Given the description of an element on the screen output the (x, y) to click on. 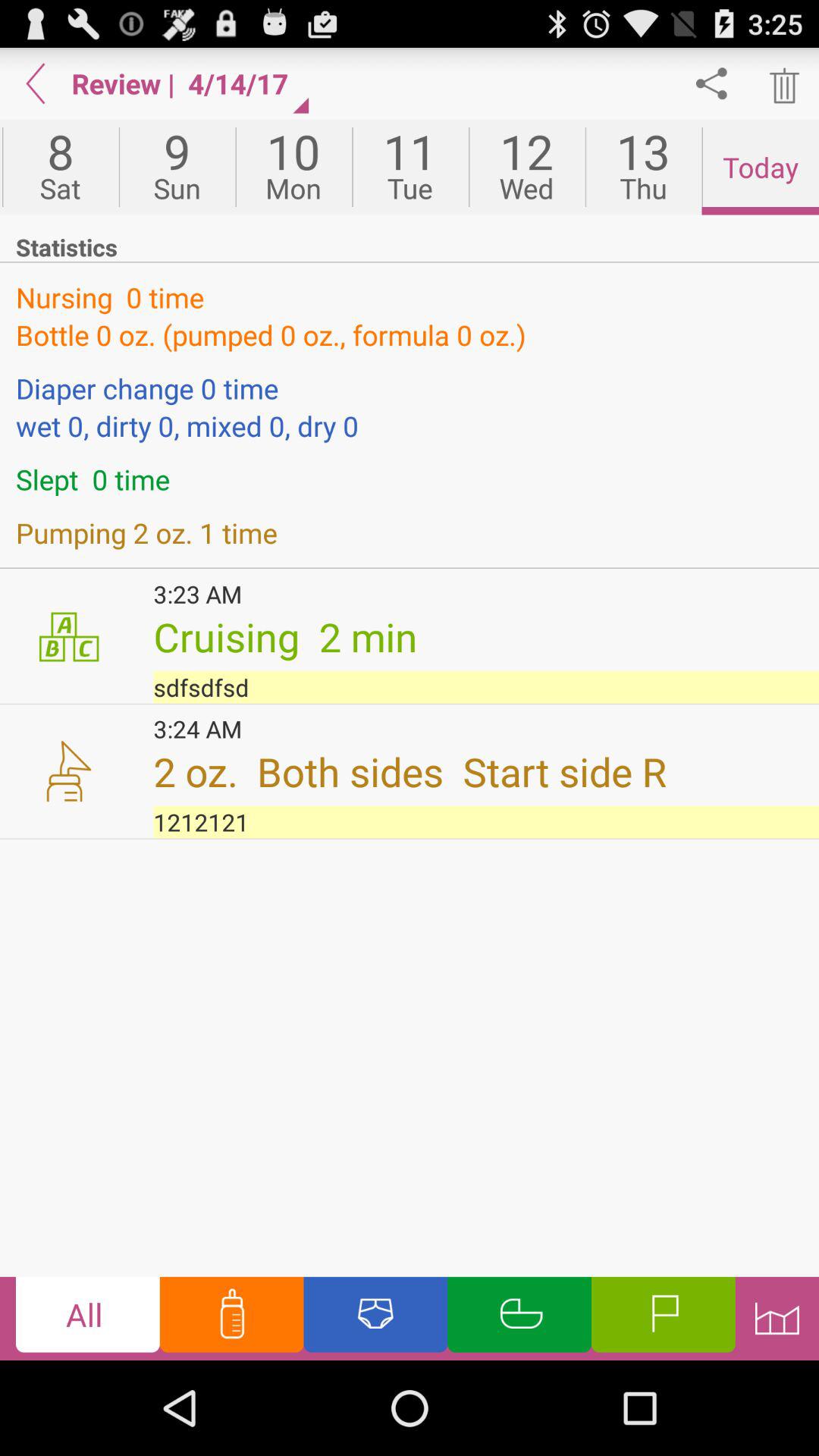
select sleep options (519, 1318)
